Given the description of an element on the screen output the (x, y) to click on. 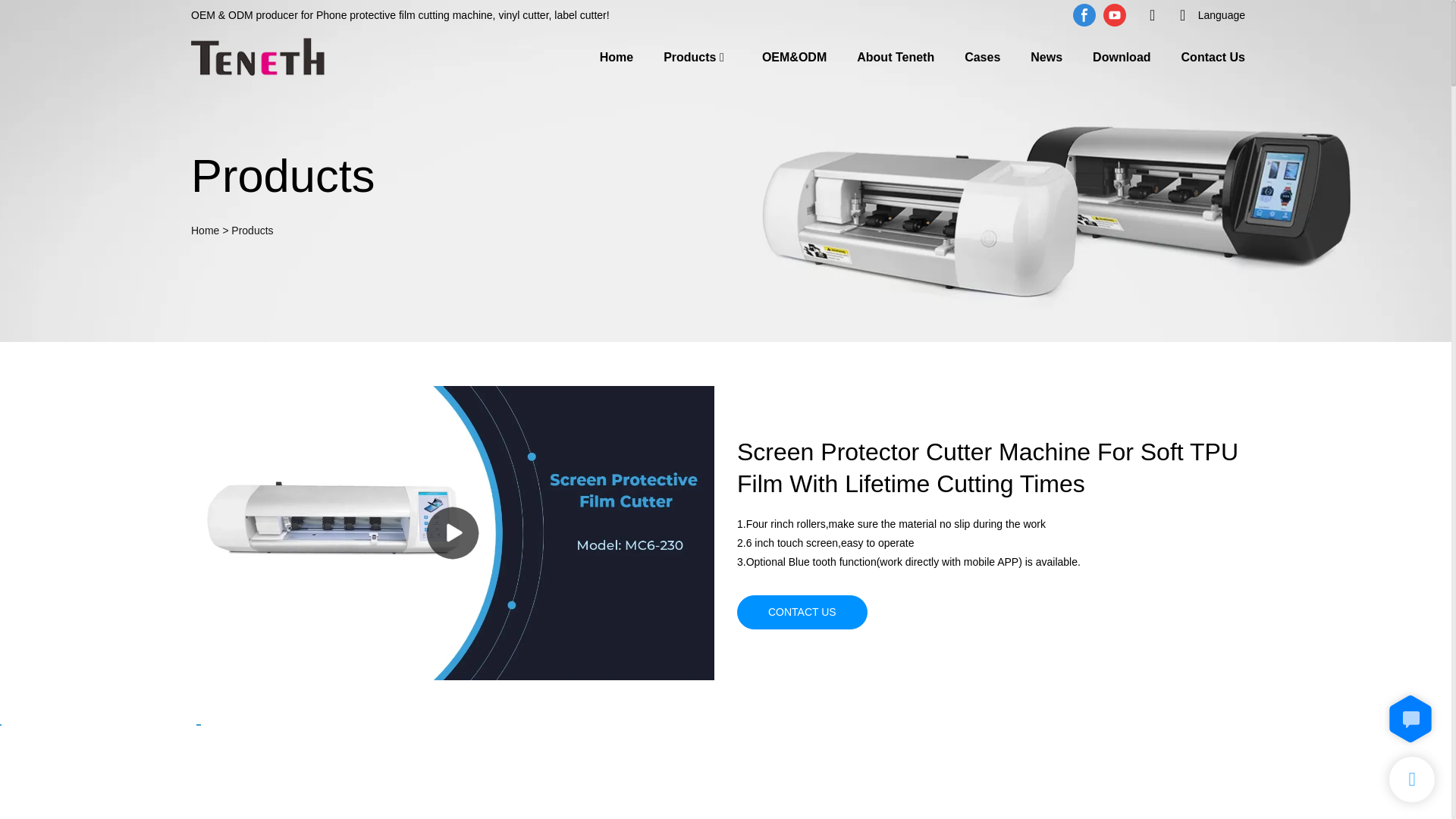
Products (252, 230)
News (1046, 56)
Contact Us (1212, 56)
CONTACT US (801, 612)
Home (204, 230)
Products (689, 56)
Download (1121, 56)
youtube (1114, 15)
About Teneth (895, 56)
facebook (1083, 15)
